Given the description of an element on the screen output the (x, y) to click on. 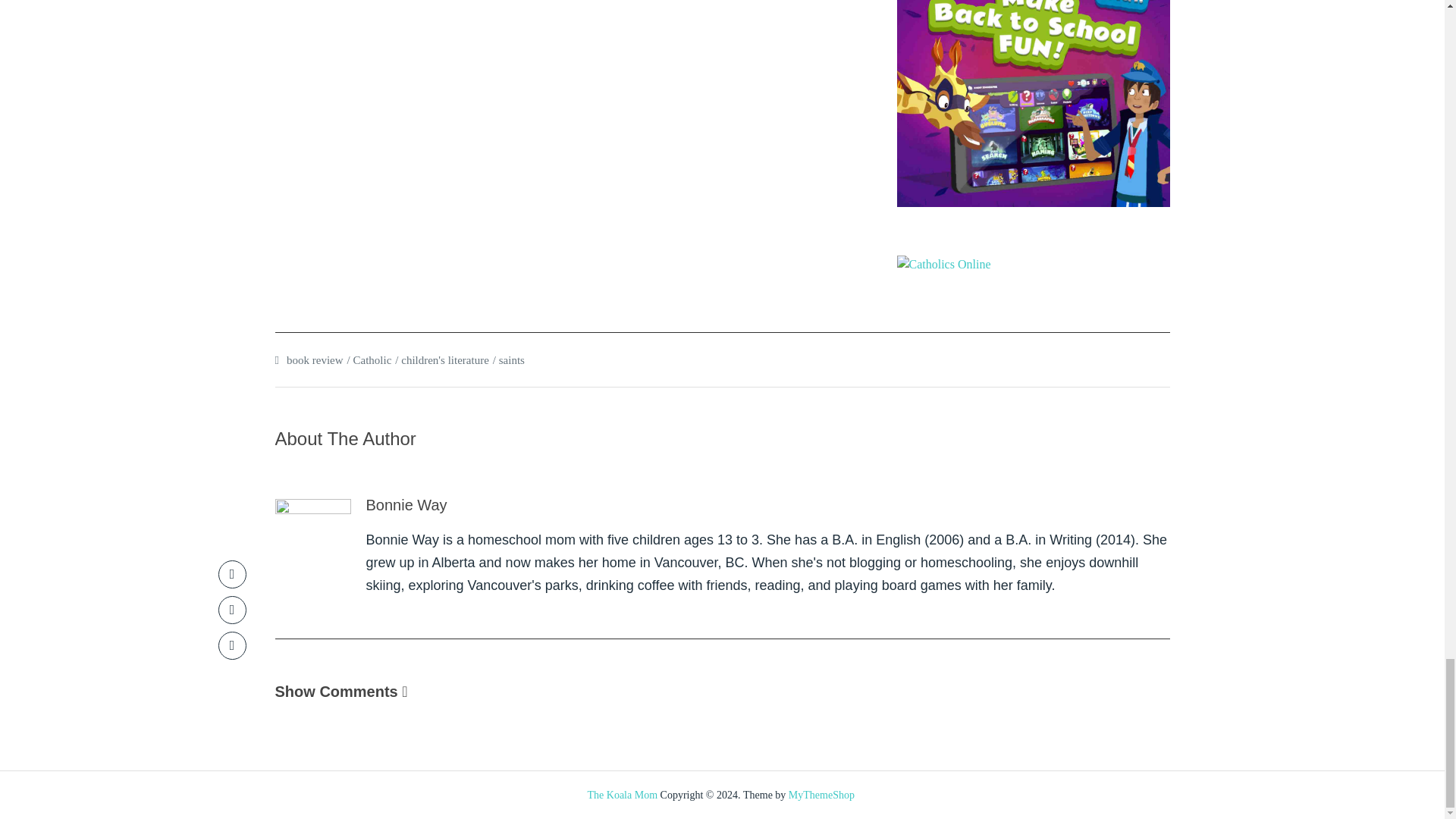
 Helping moms keep their families close as koalas. (623, 794)
